Given the description of an element on the screen output the (x, y) to click on. 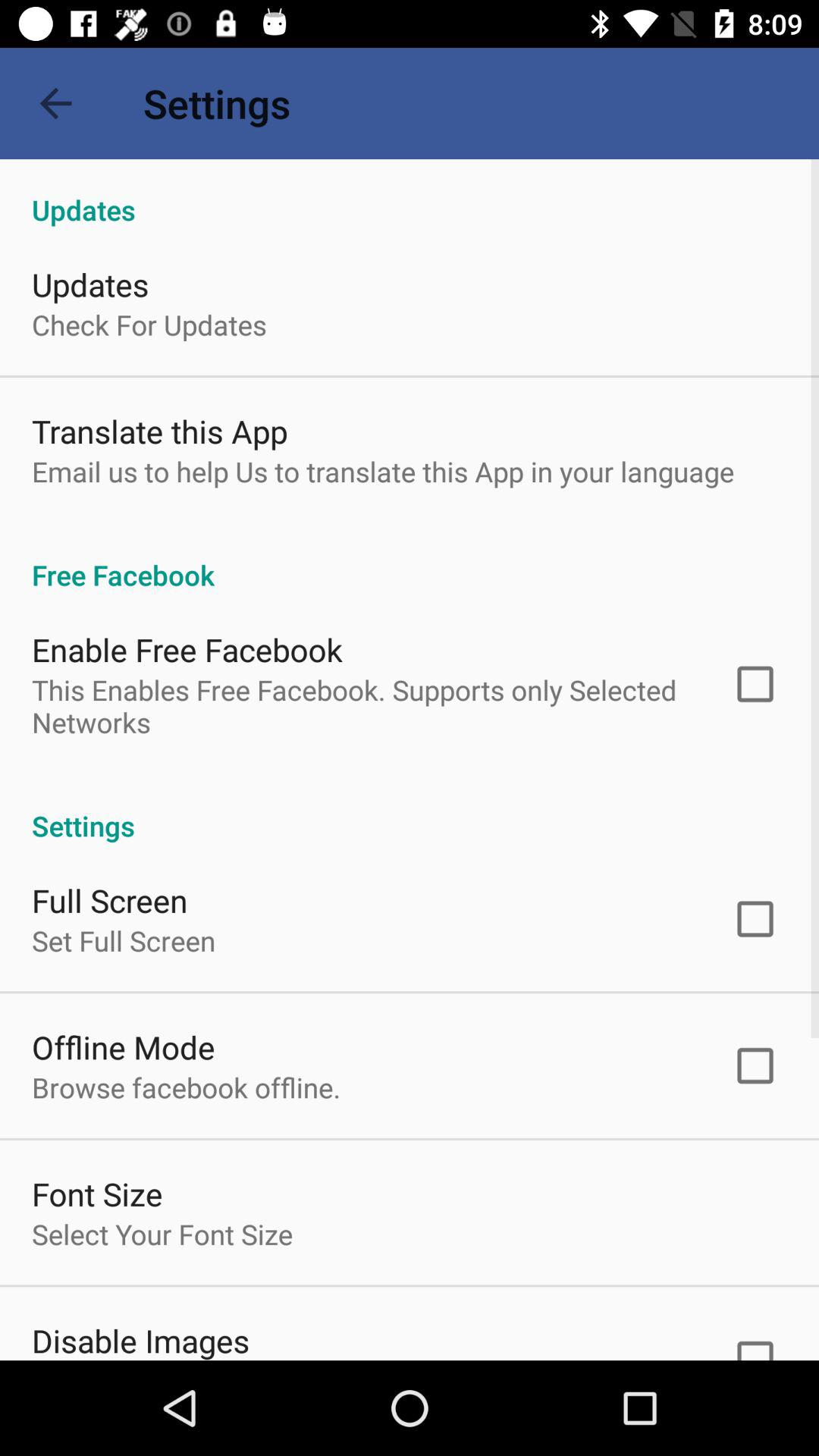
jump until check for updates app (148, 324)
